Given the description of an element on the screen output the (x, y) to click on. 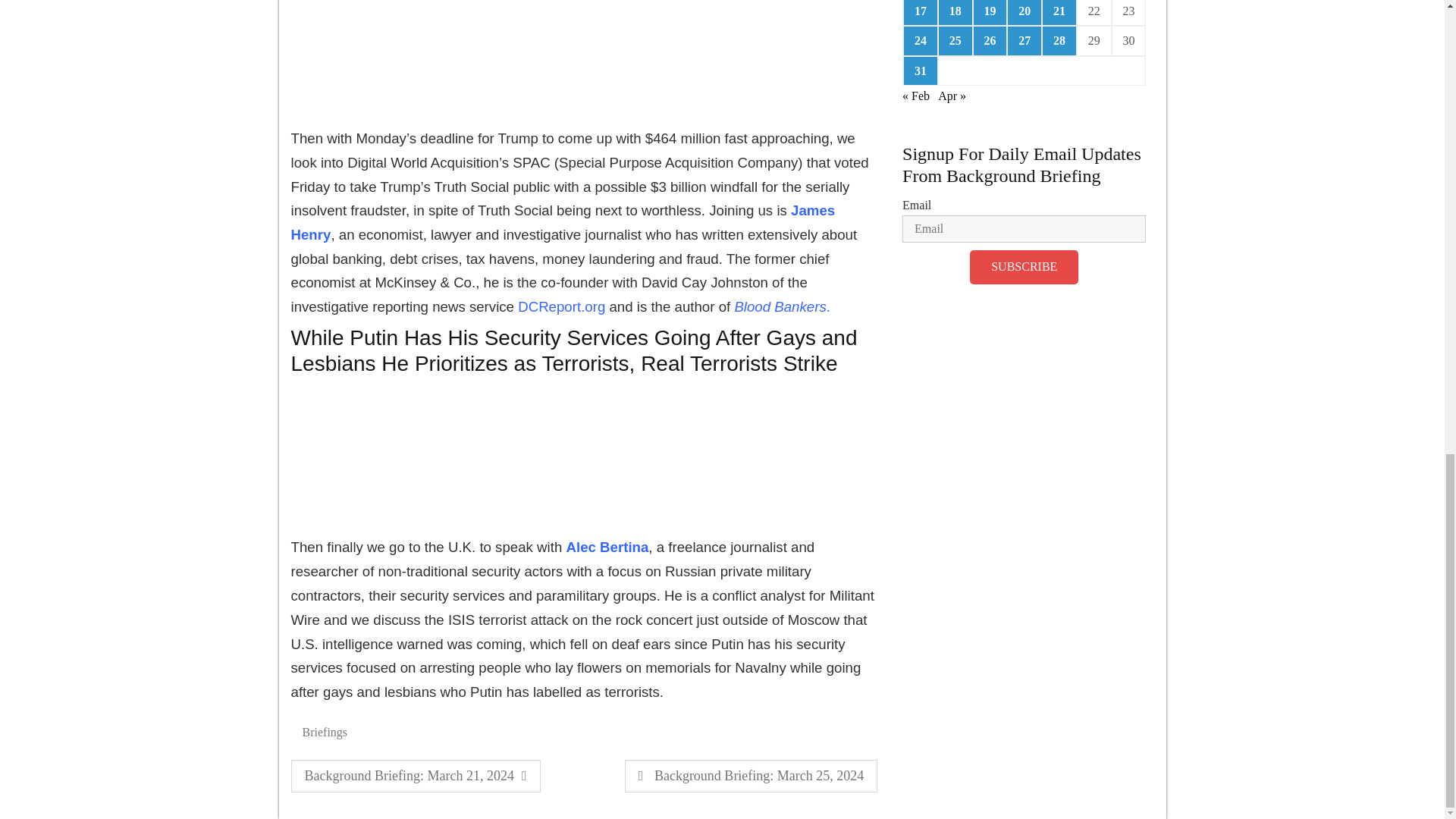
DCReport.org (563, 306)
James Henry (563, 222)
 Alec Bertina (604, 546)
 Blood Bankers. (779, 306)
Briefings (415, 776)
